Given the description of an element on the screen output the (x, y) to click on. 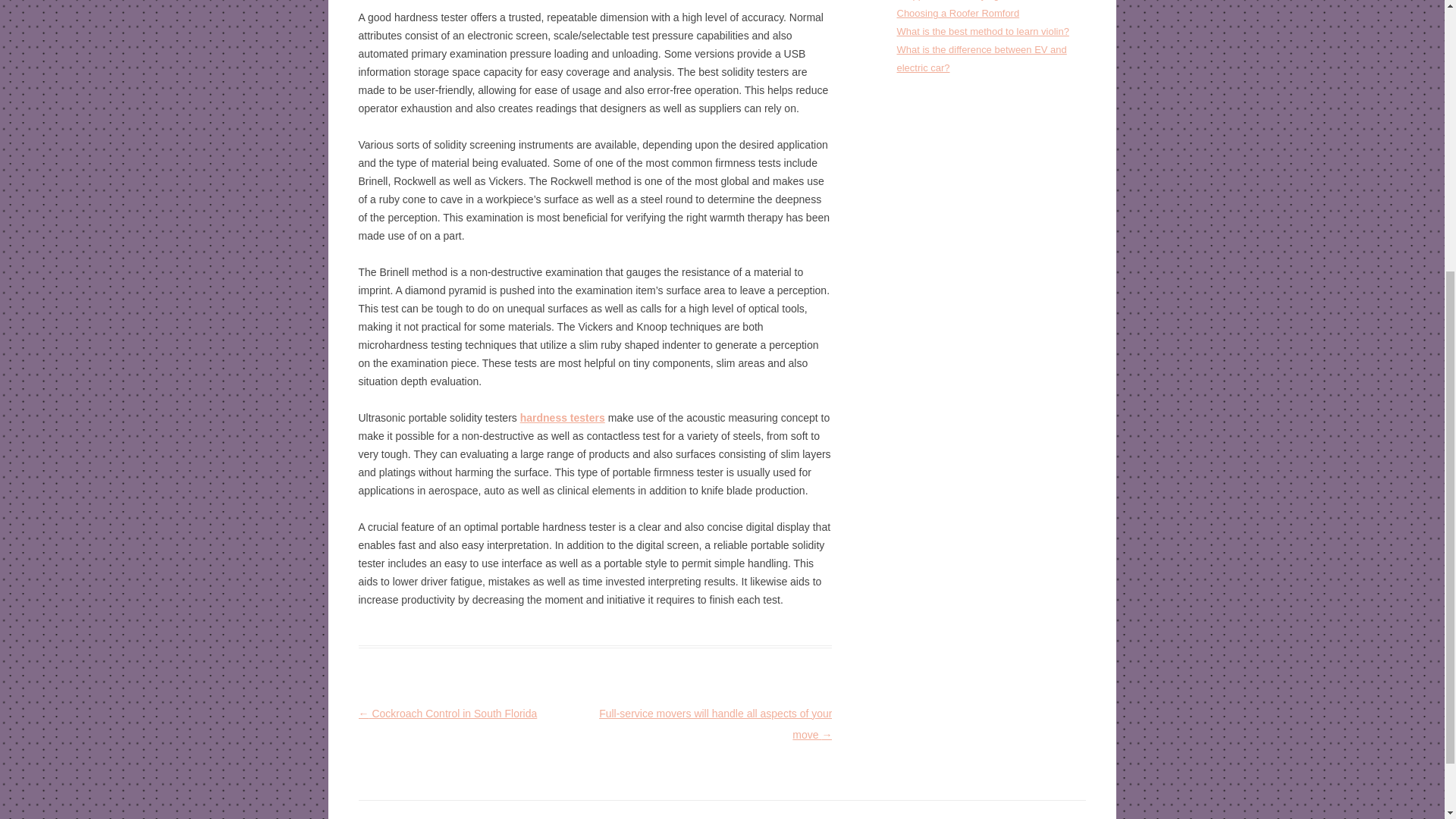
hardness testers (562, 417)
Choosing a Roofer Romford (957, 12)
What is the best method to learn violin? (982, 30)
What is the difference between EV and electric car? (980, 58)
